Given the description of an element on the screen output the (x, y) to click on. 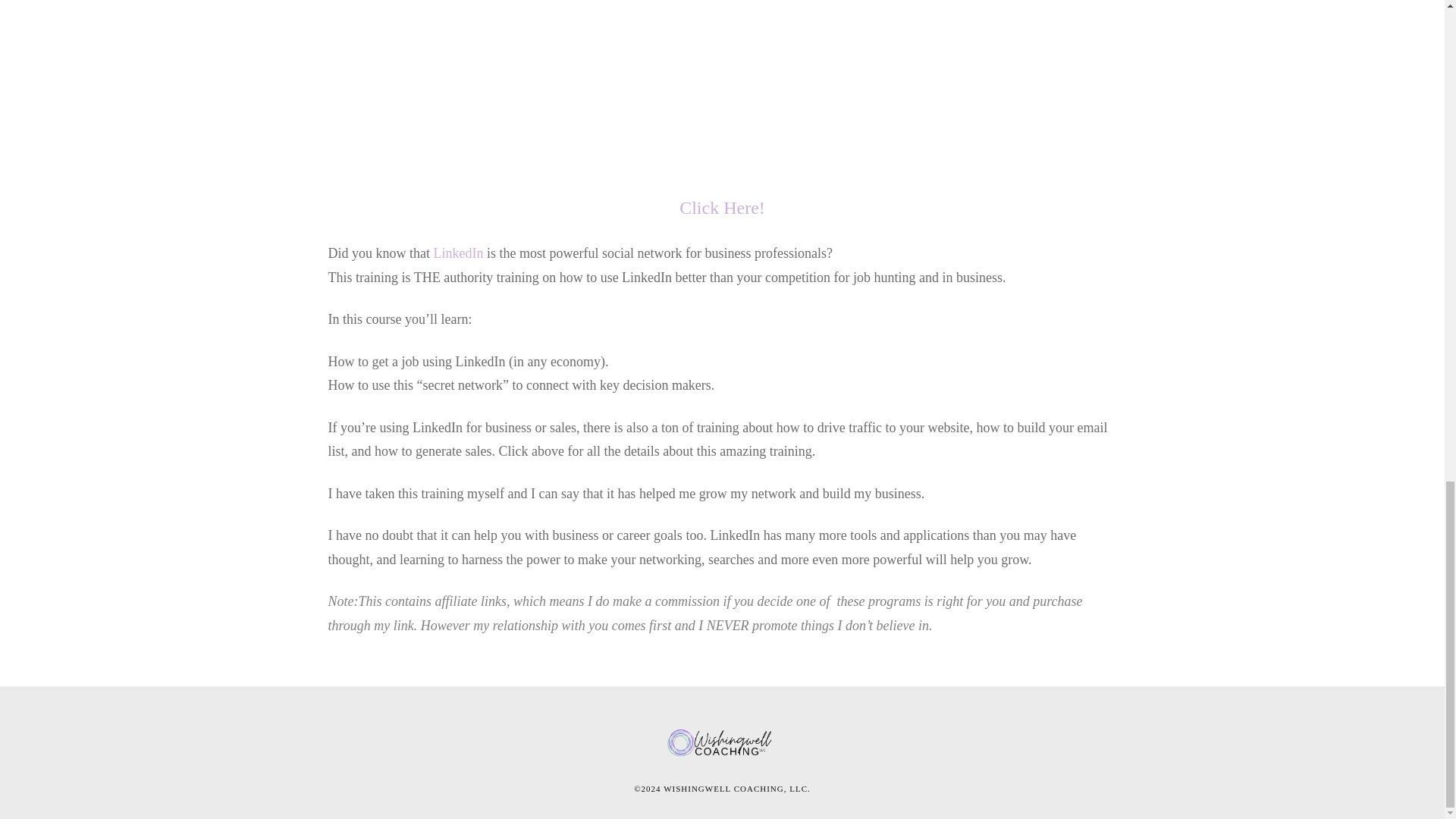
Click Here! (722, 207)
LinkedIn (458, 253)
